Given the description of an element on the screen output the (x, y) to click on. 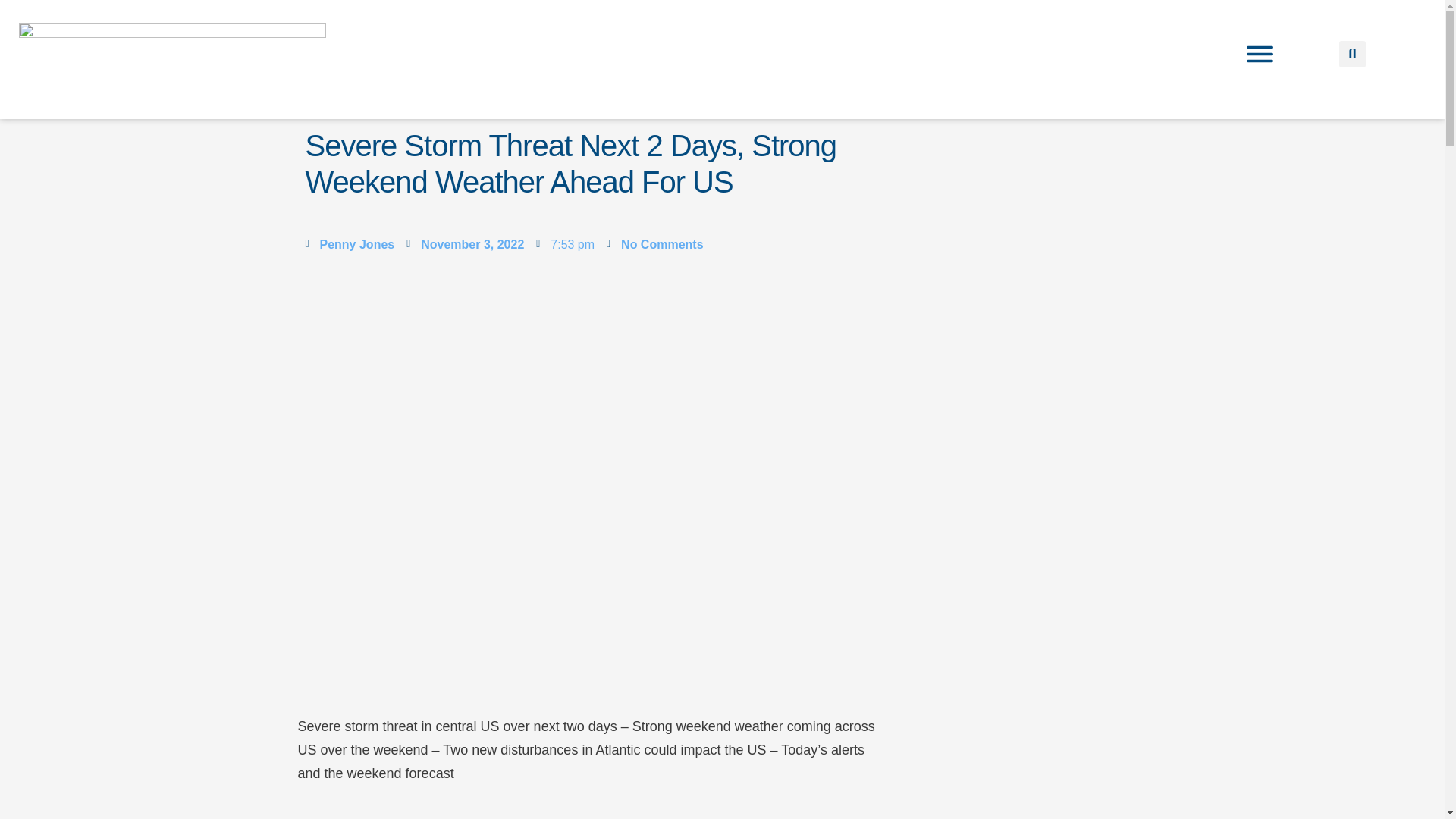
No Comments (655, 244)
November 3, 2022 (465, 244)
Penny Jones (349, 244)
